Given the description of an element on the screen output the (x, y) to click on. 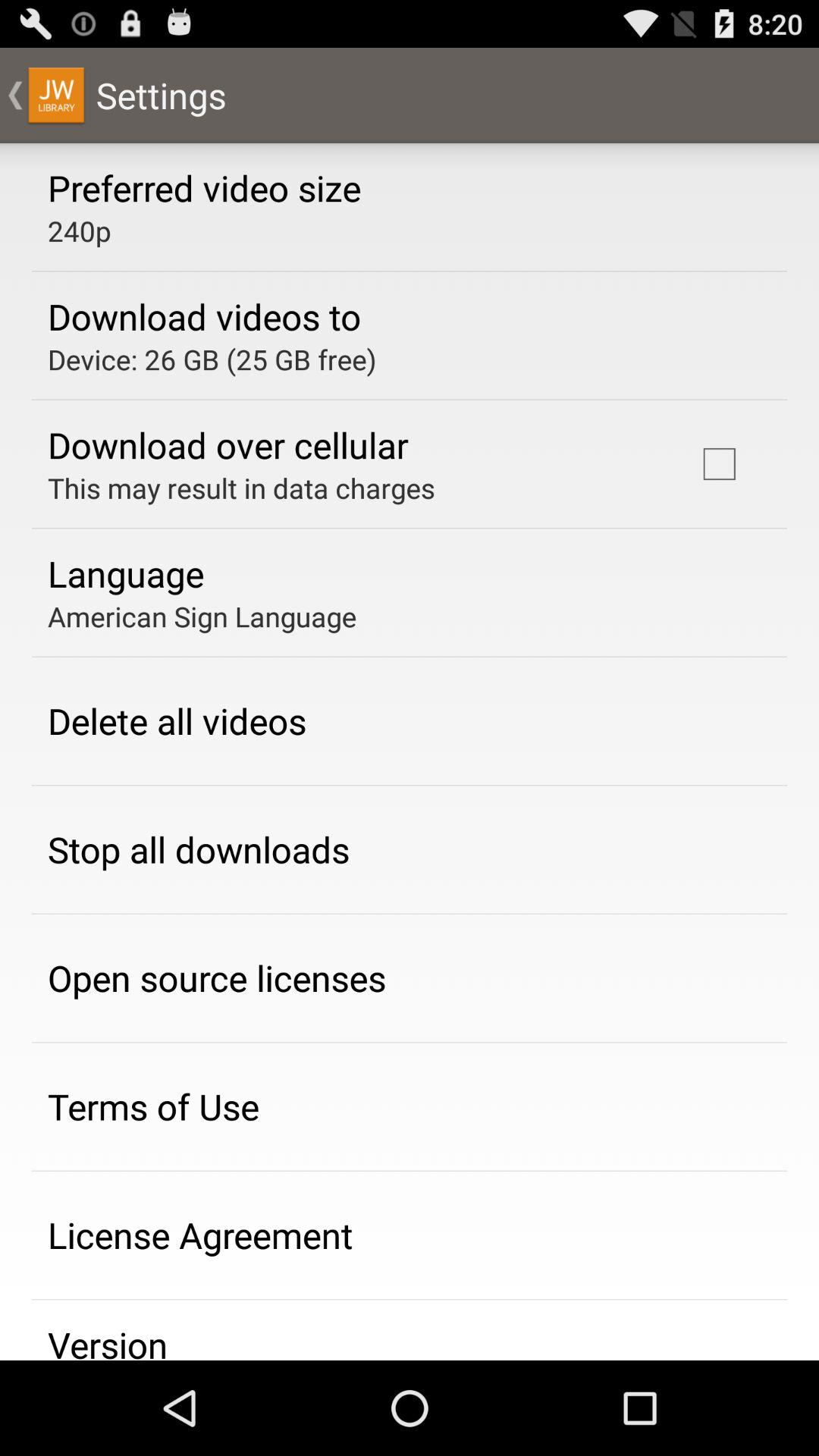
tap the icon above the open source licenses item (198, 849)
